Given the description of an element on the screen output the (x, y) to click on. 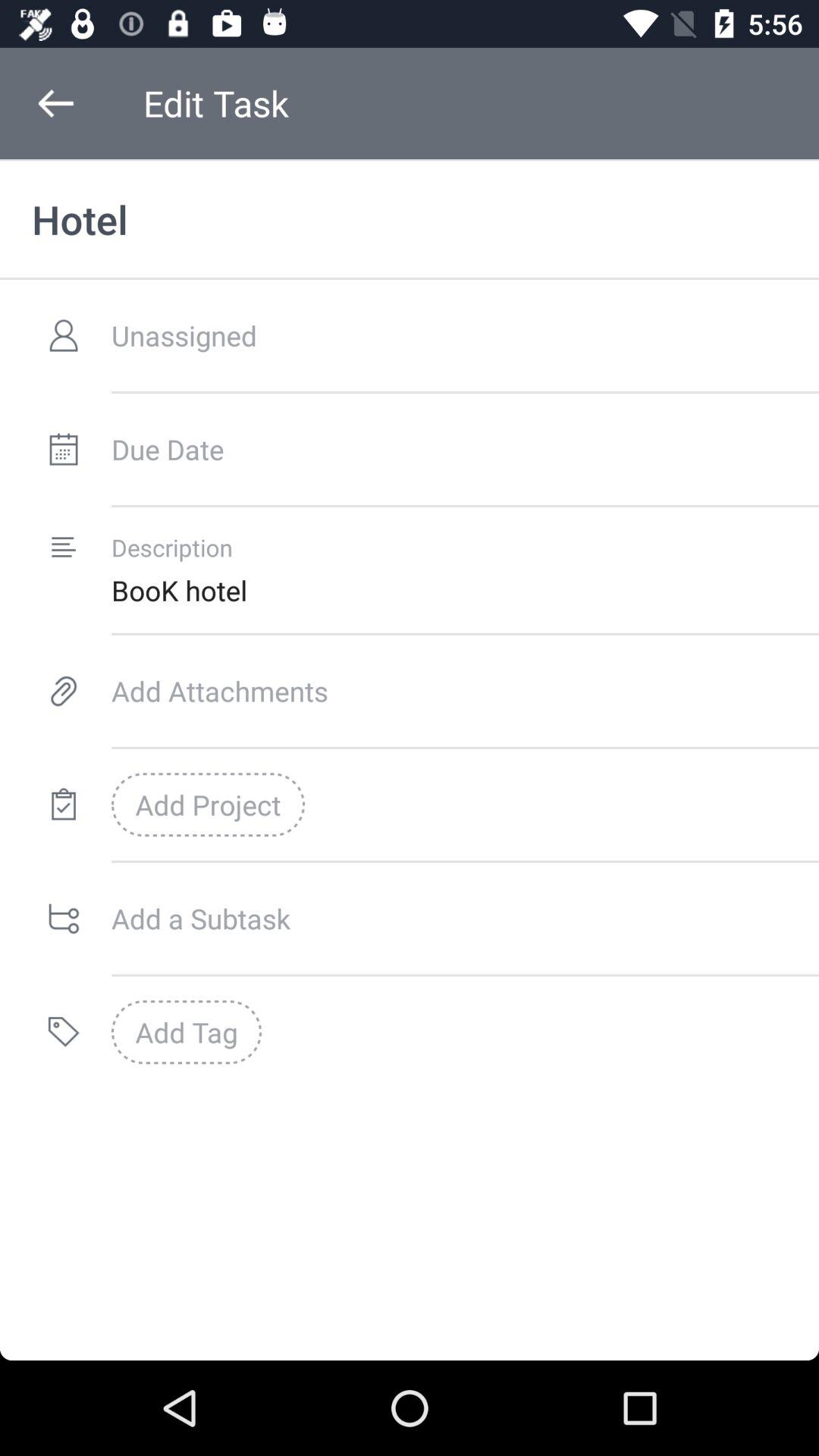
add attatchments (465, 690)
